Given the description of an element on the screen output the (x, y) to click on. 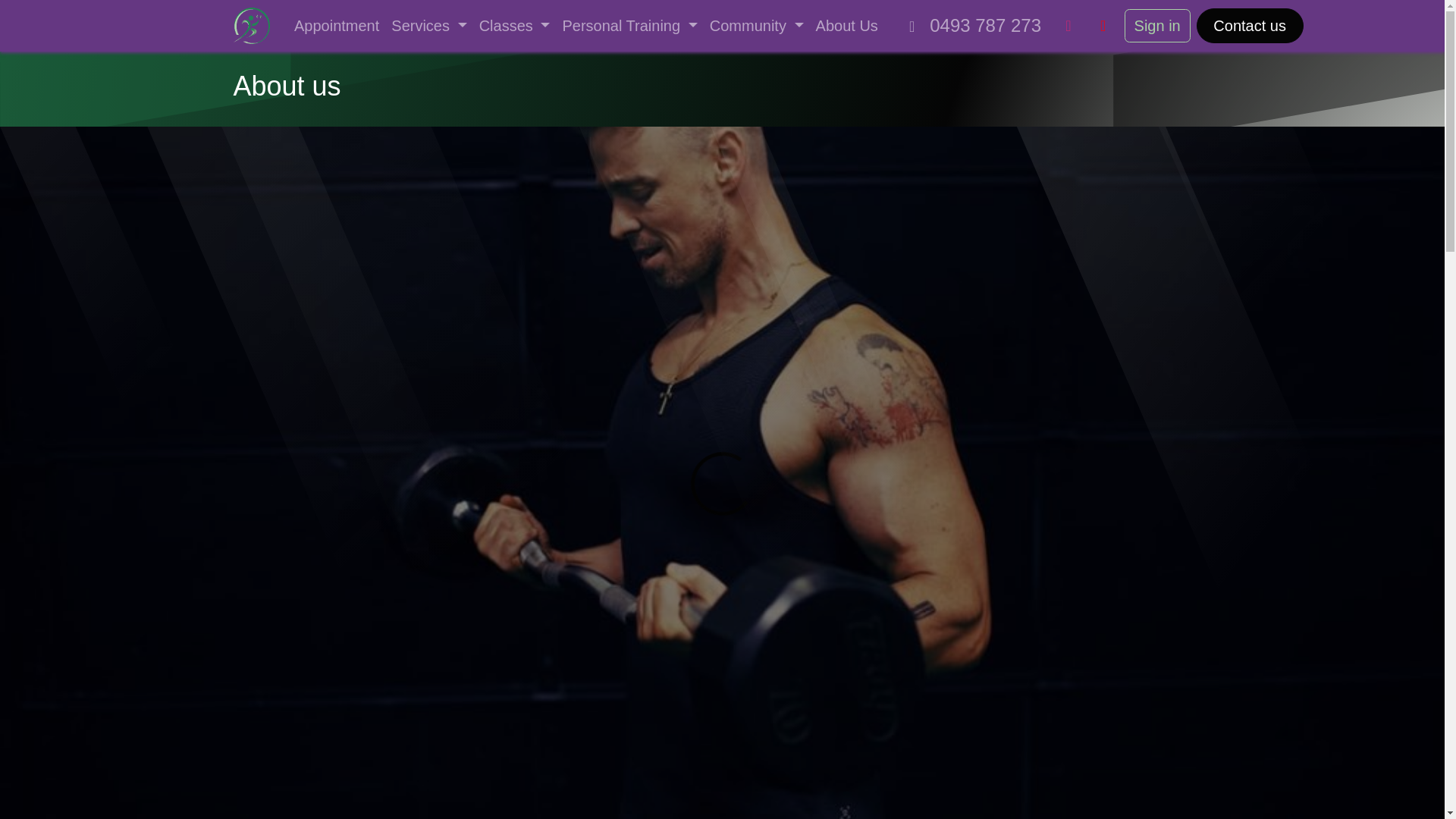
Contact us (1249, 25)
Personal Training (629, 25)
Sign in (1157, 25)
Services (428, 25)
Community (756, 25)
About Us (846, 25)
Kian ProActive (251, 25)
 0493 787 273 (971, 25)
Appointment (336, 25)
Classes (514, 25)
